Given the description of an element on the screen output the (x, y) to click on. 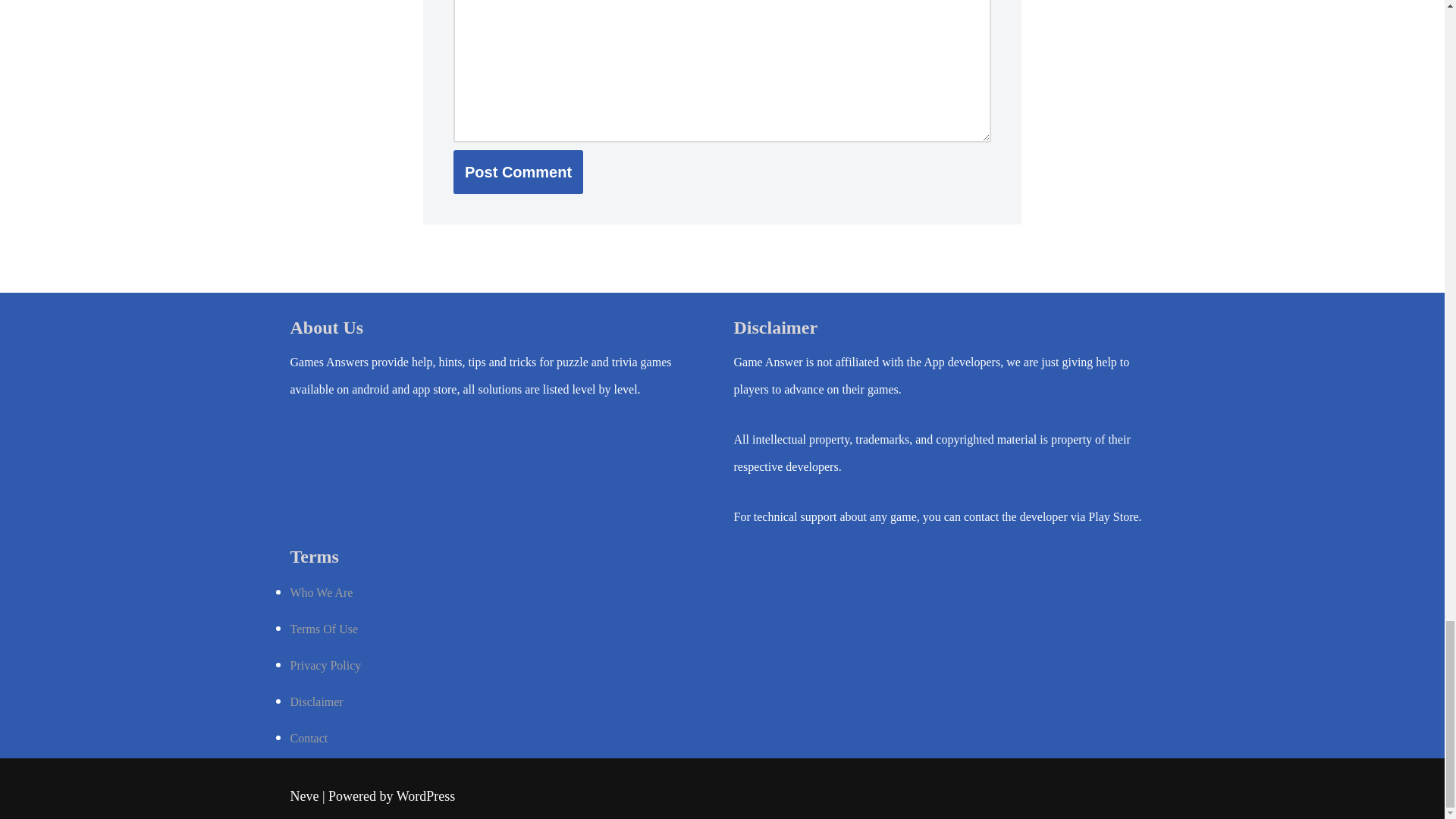
Neve (303, 795)
Post Comment (517, 171)
Terms Of Use (323, 628)
Contact (308, 738)
WordPress (425, 795)
Post Comment (517, 171)
Who We Are (320, 592)
Privacy Policy (325, 665)
Disclaimer (315, 701)
